Given the description of an element on the screen output the (x, y) to click on. 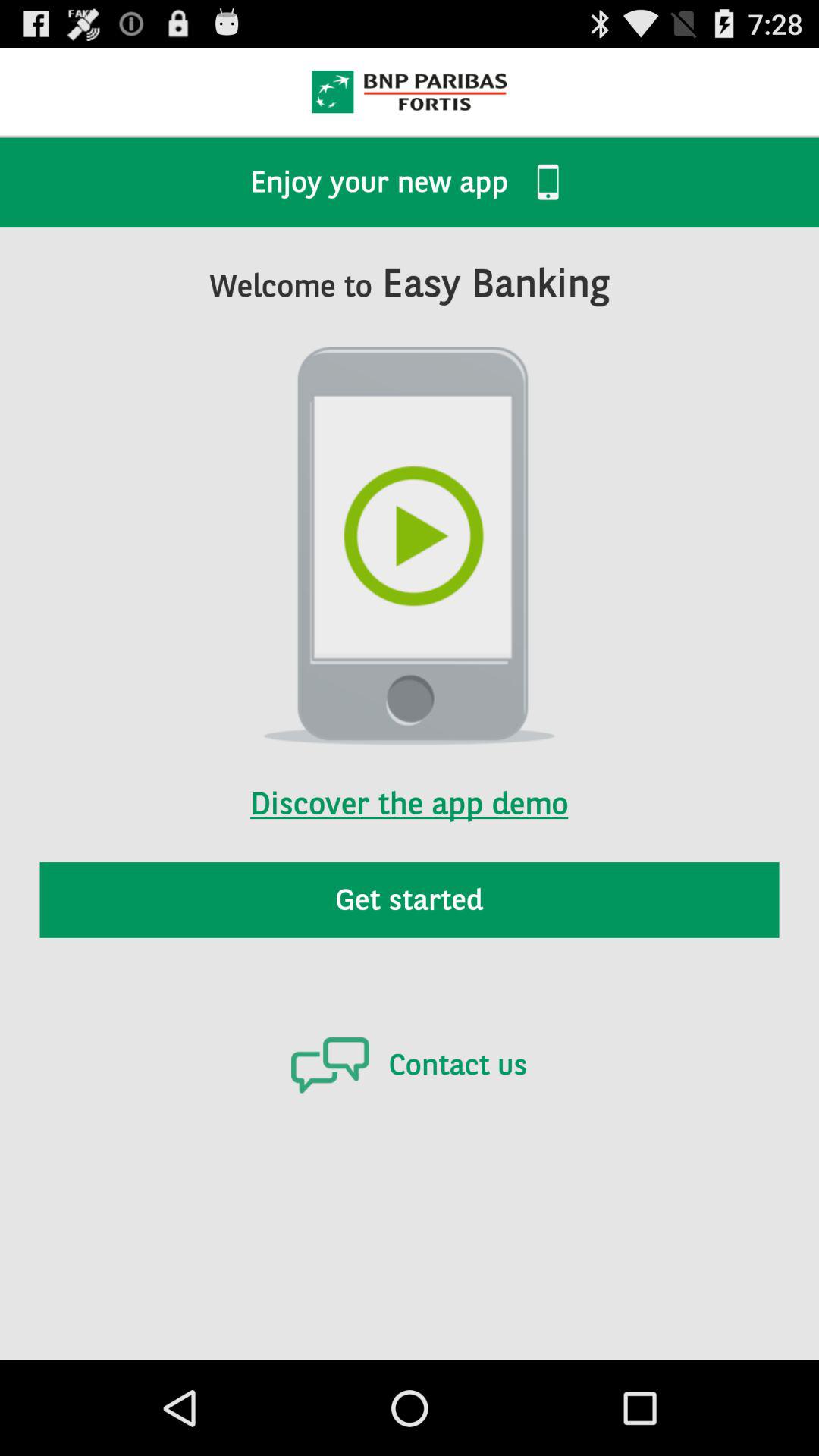
tap the item below the get started (409, 1065)
